Given the description of an element on the screen output the (x, y) to click on. 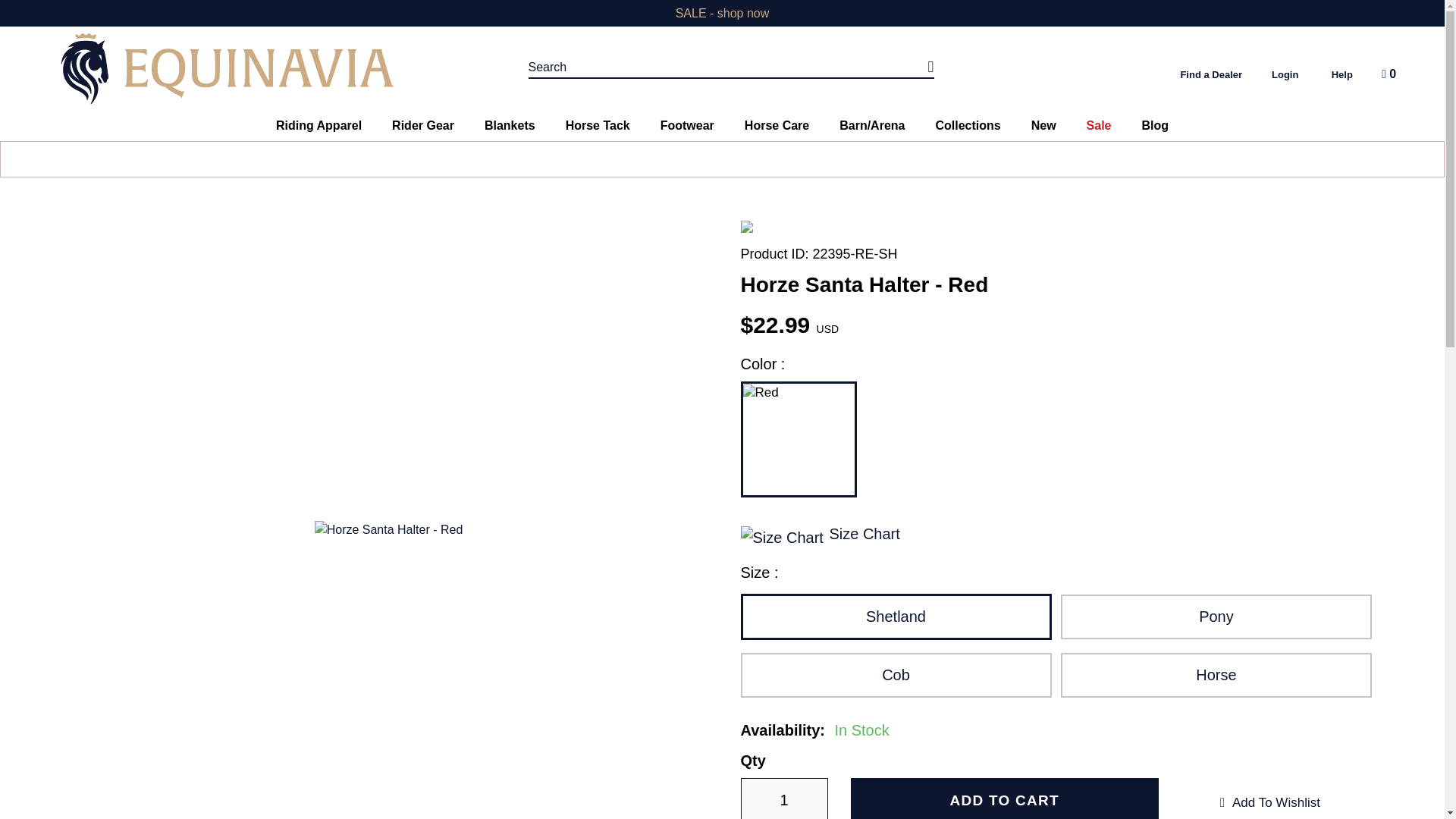
Find a Dealer (1210, 74)
SALE - shop now (722, 12)
Help (1342, 74)
Login (1284, 74)
Search (730, 67)
1 (783, 798)
